Given the description of an element on the screen output the (x, y) to click on. 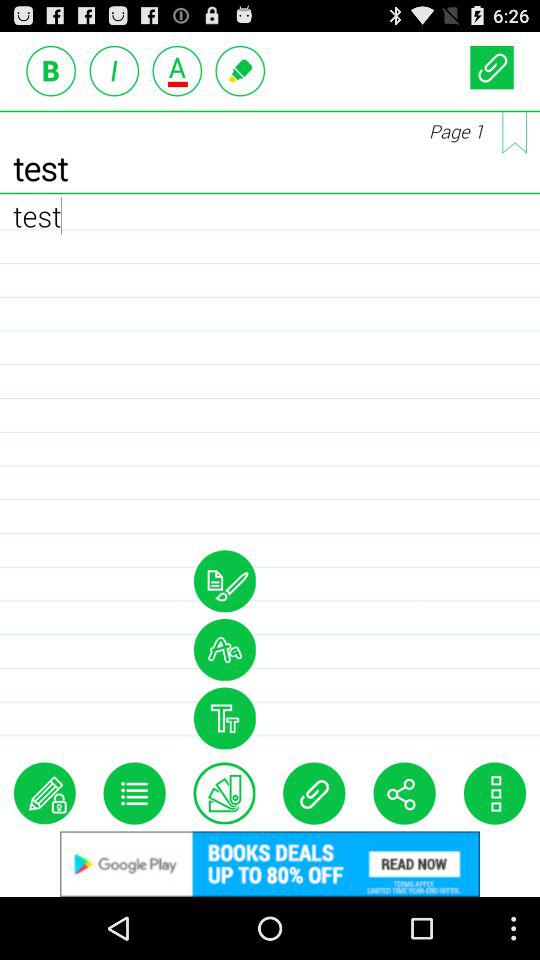
select font style (114, 70)
